Given the description of an element on the screen output the (x, y) to click on. 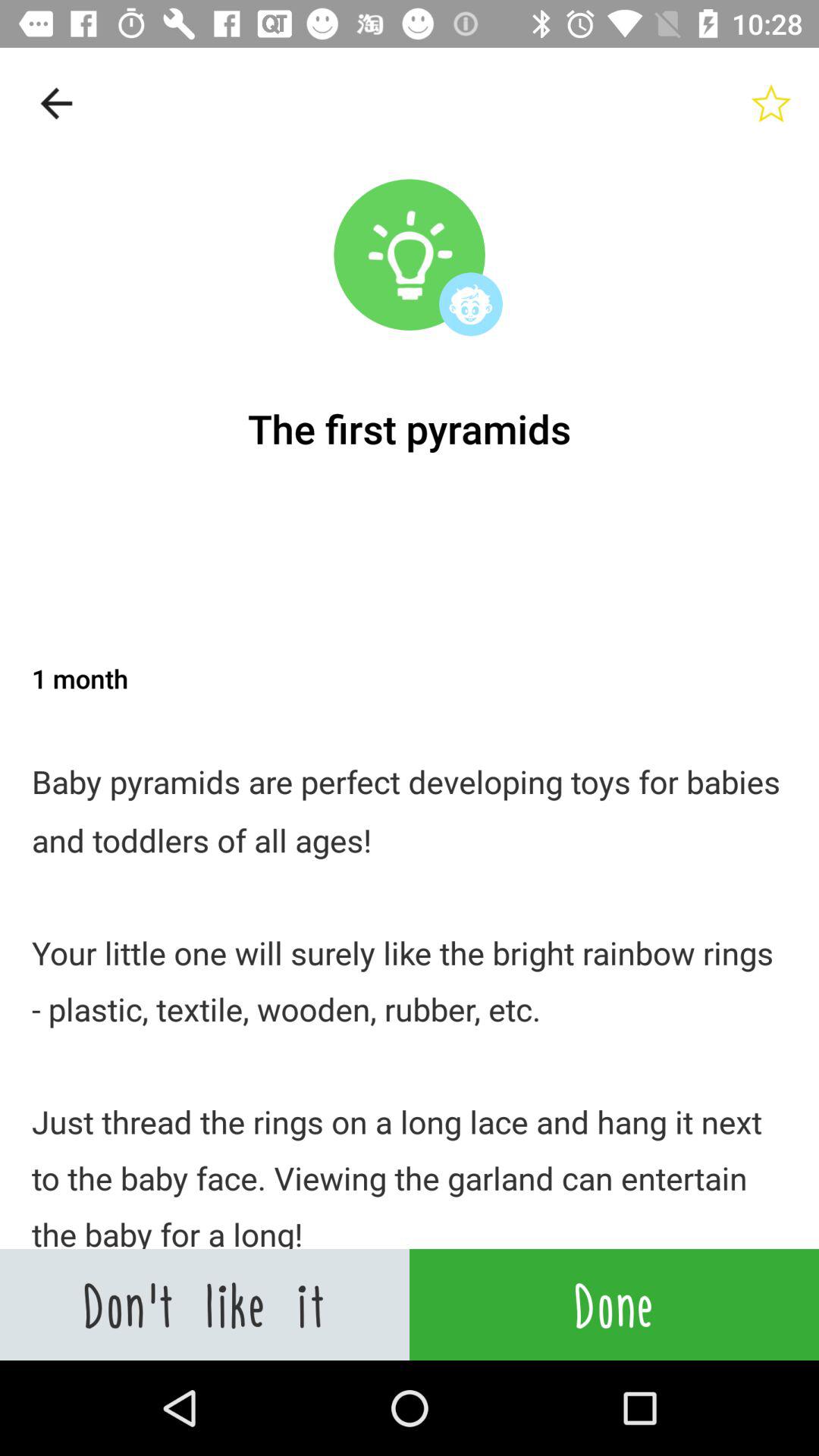
turn on icon to the right of the don t like (614, 1304)
